Given the description of an element on the screen output the (x, y) to click on. 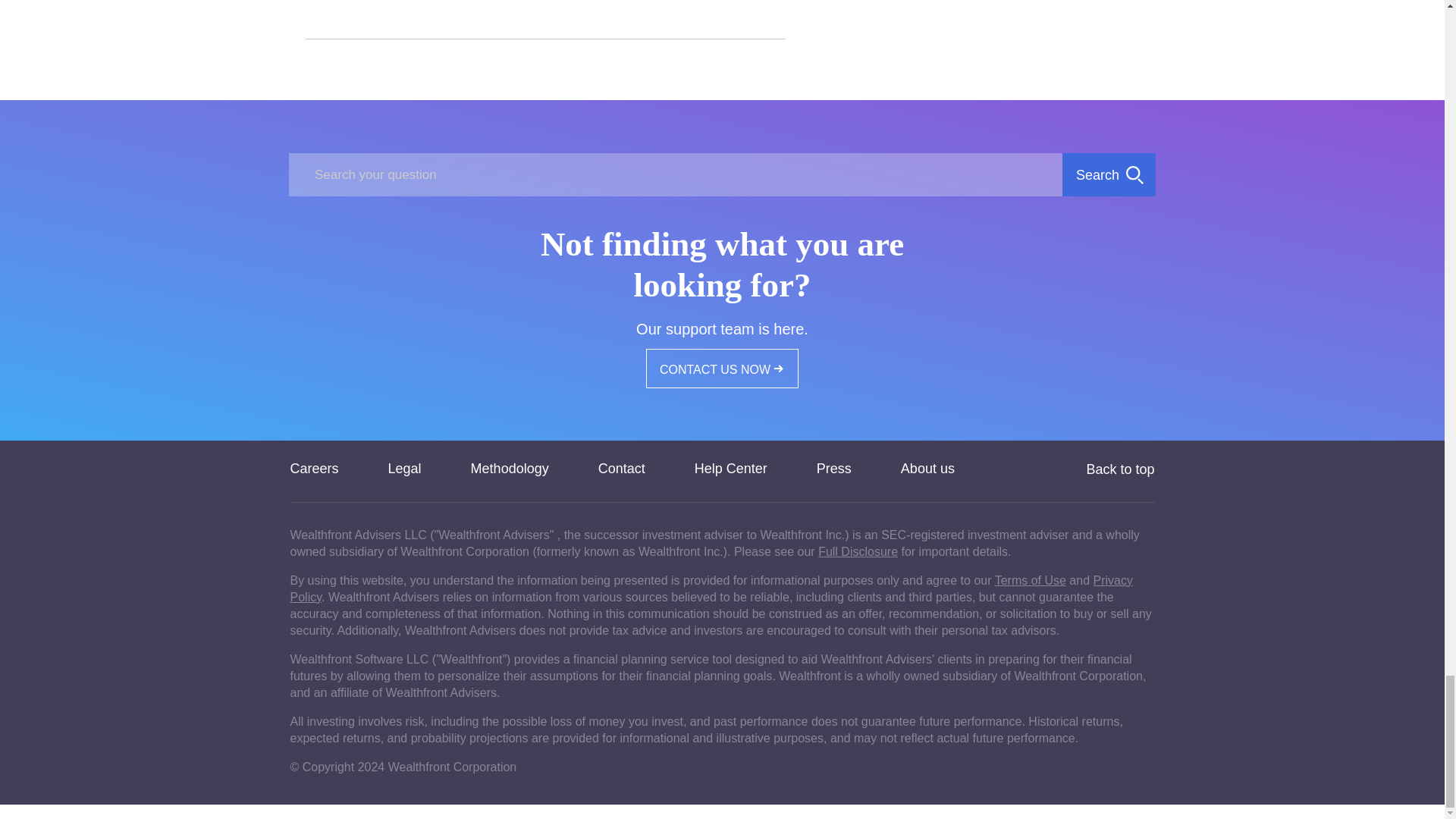
Search (1109, 174)
Tax Benefits of a 529 Plan (383, 1)
